Given the description of an element on the screen output the (x, y) to click on. 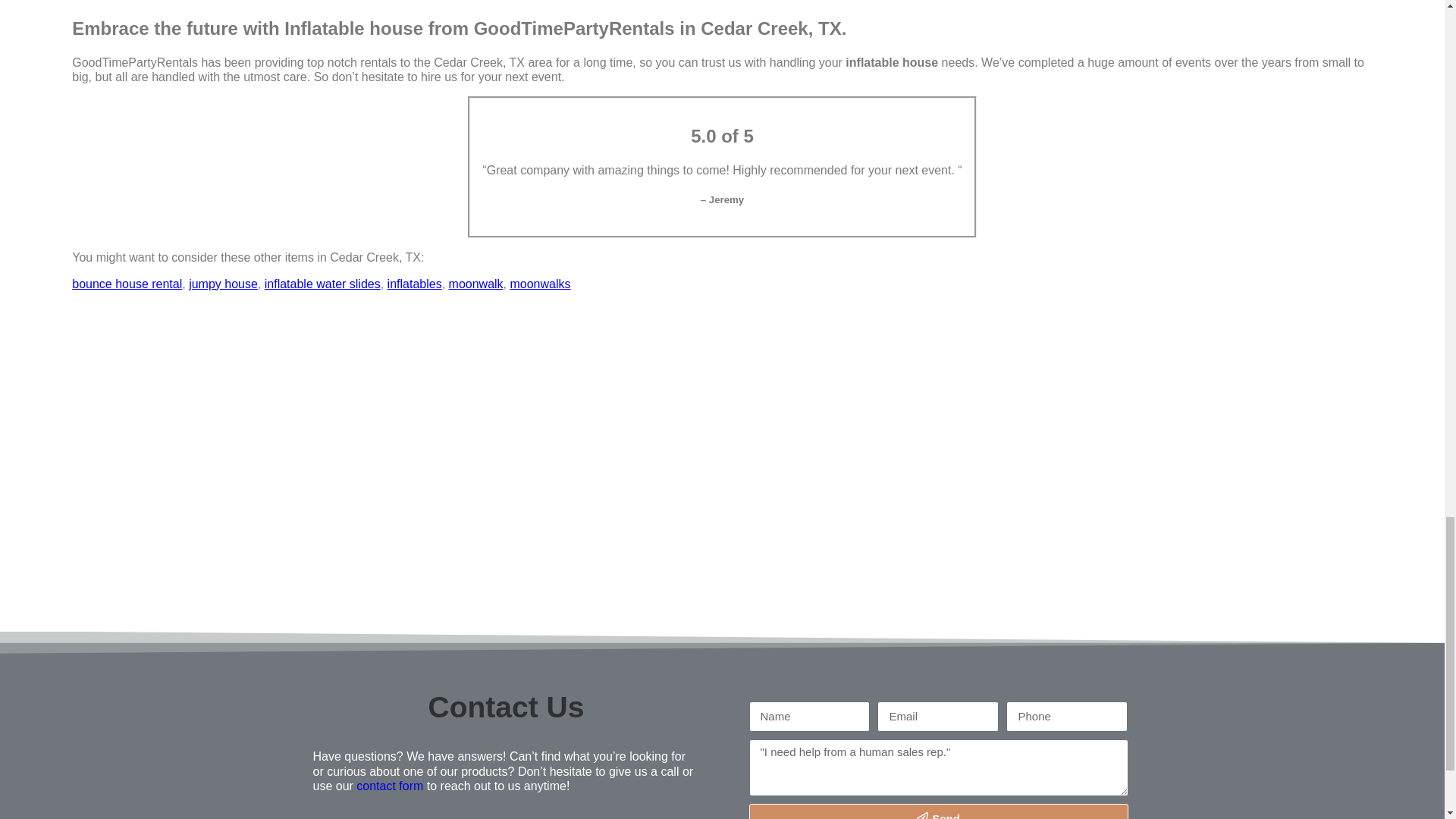
Send (938, 811)
bounce house rental (126, 283)
inflatables (414, 283)
jumpy house (223, 283)
inflatable water slides (322, 283)
moonwalks (539, 283)
moonwalk (475, 283)
contact form (389, 785)
